Given the description of an element on the screen output the (x, y) to click on. 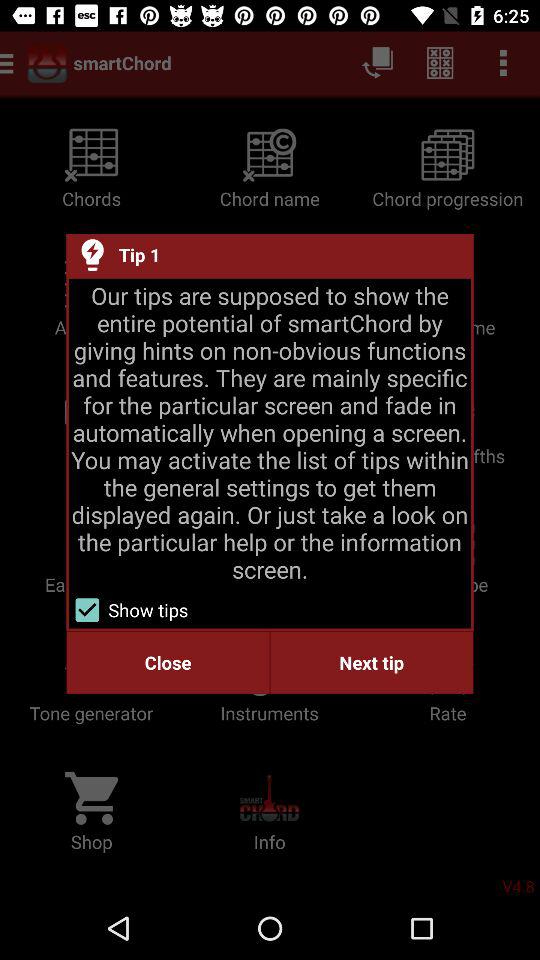
turn off the item above show tips (269, 432)
